Given the description of an element on the screen output the (x, y) to click on. 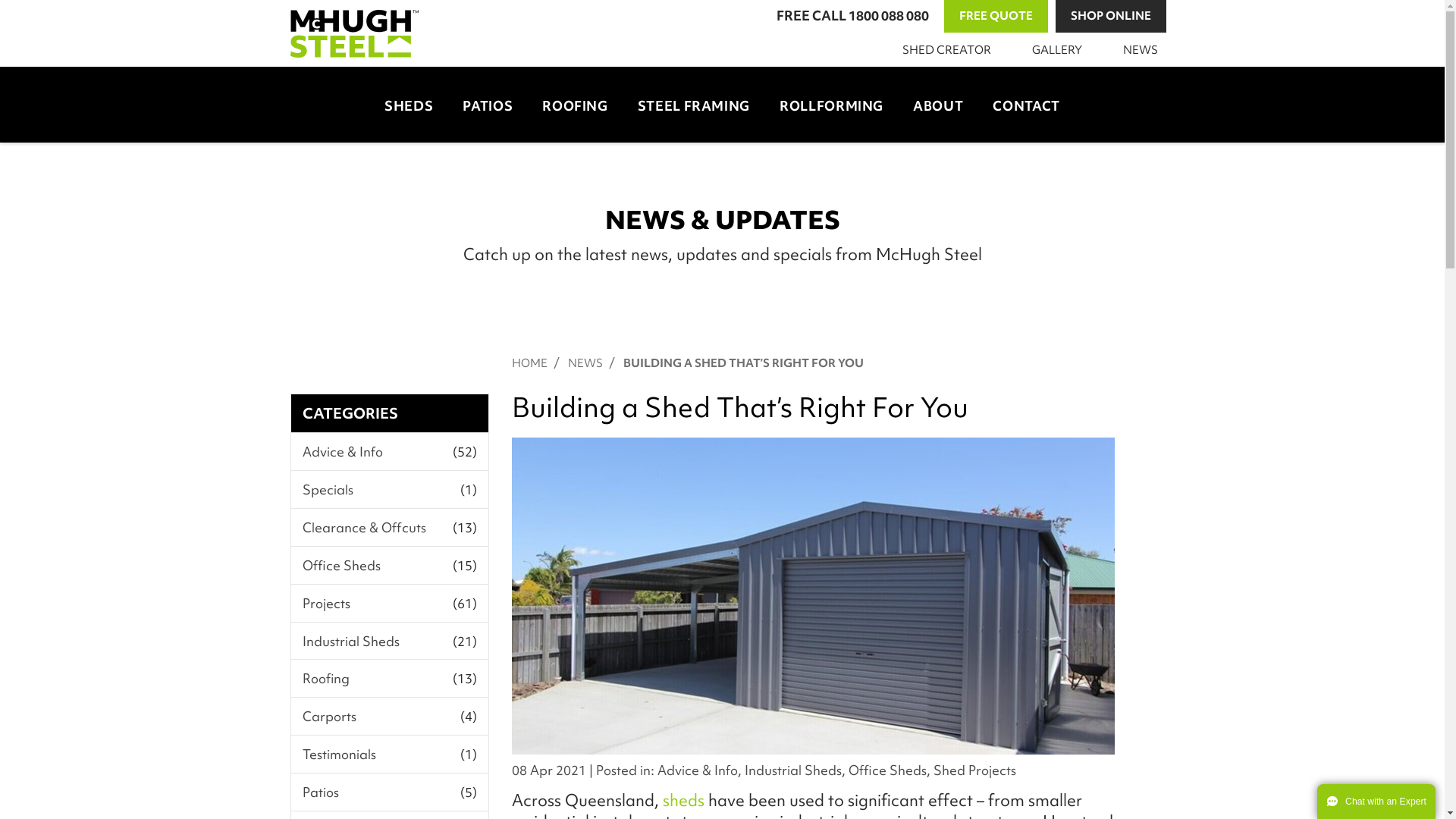
SHED CREATOR Element type: text (942, 49)
GALLERY Element type: text (1053, 49)
sheds Element type: text (683, 800)
Carports
(4) Element type: text (390, 715)
STEEL FRAMING Element type: text (693, 103)
CONTACT Element type: text (1026, 103)
Advice & Info
(52) Element type: text (390, 451)
Projects
(61) Element type: text (390, 602)
PATIOS Element type: text (487, 103)
Industrial Sheds
(21) Element type: text (390, 640)
Roofing
(13) Element type: text (390, 677)
Testimonials
(1) Element type: text (390, 753)
ROOFING Element type: text (574, 103)
ROLLFORMING Element type: text (831, 103)
SHEDS Element type: text (408, 103)
Clearance & Offcuts
(13) Element type: text (390, 527)
HOME Element type: text (529, 362)
NEWS Element type: text (1137, 49)
Specials
(1) Element type: text (390, 489)
FREE CALL 1800 088 080 Element type: text (852, 16)
SHOP ONLINE Element type: text (1110, 16)
Office Sheds
(15) Element type: text (390, 564)
FREE QUOTE Element type: text (995, 16)
CATEGORIES Element type: text (349, 413)
ABOUT Element type: text (937, 103)
Patios
(5) Element type: text (390, 791)
NEWS Element type: text (584, 362)
